Given the description of an element on the screen output the (x, y) to click on. 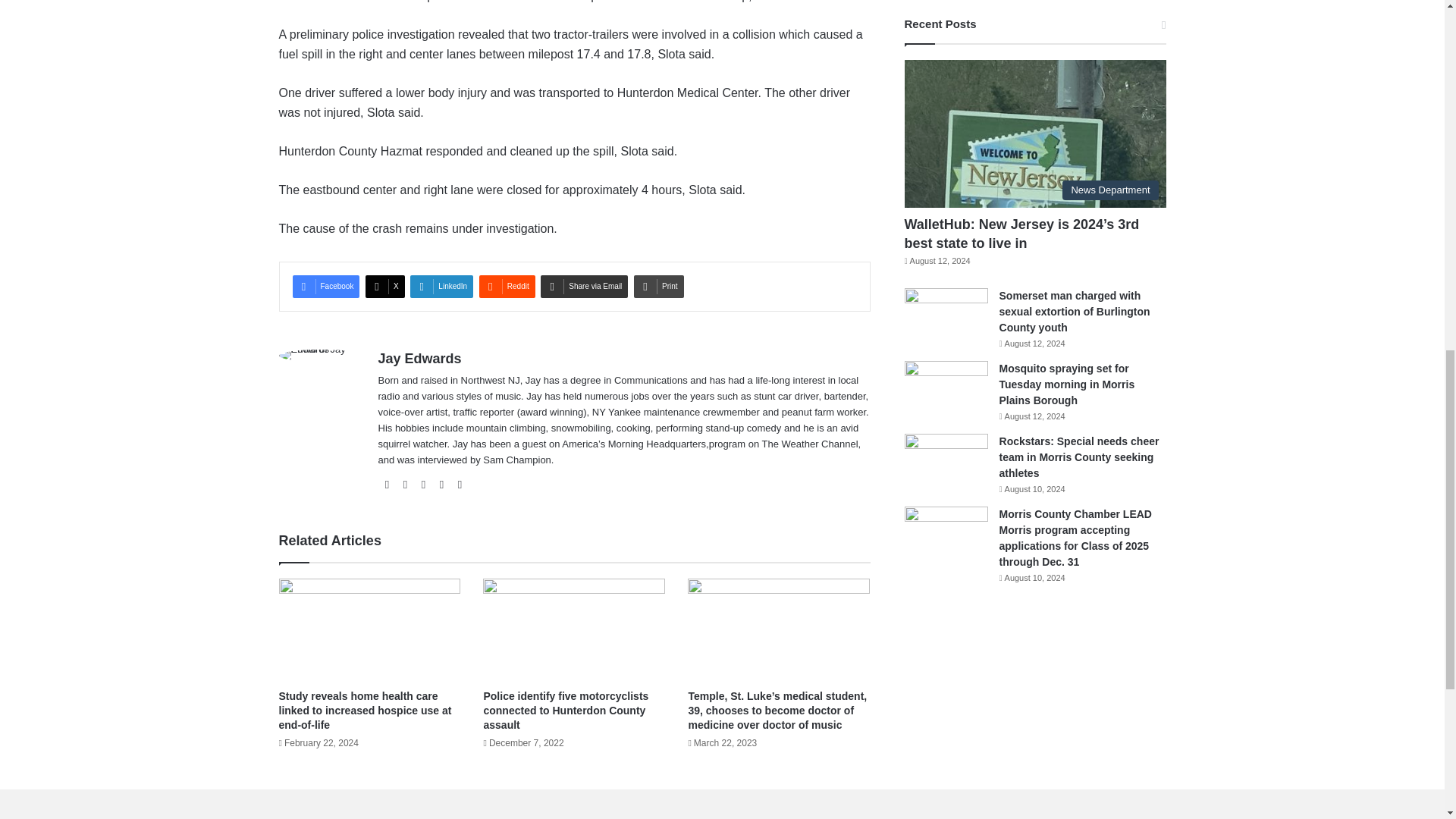
Reddit (507, 286)
Facebook (325, 286)
X (384, 286)
Share via Email (583, 286)
Print (658, 286)
LinkedIn (441, 286)
